Given the description of an element on the screen output the (x, y) to click on. 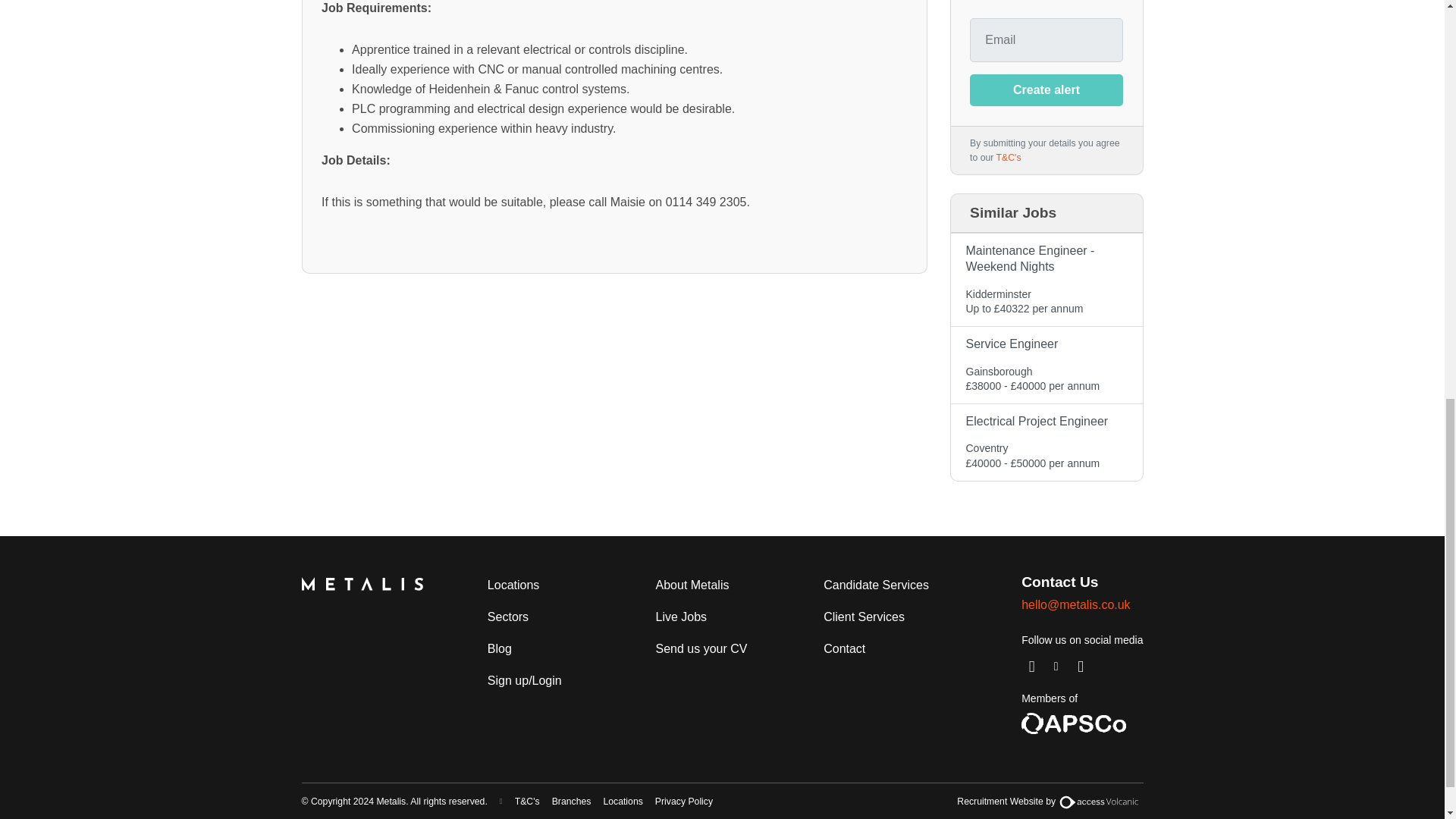
Locations (621, 801)
Send us your CV (701, 649)
Blog (499, 649)
About Metalis (692, 585)
Create alert (1045, 90)
Facebook (1080, 666)
Privacy Policy (684, 801)
Contact (843, 649)
Client Services (863, 617)
Candidate Services (875, 585)
